Given the description of an element on the screen output the (x, y) to click on. 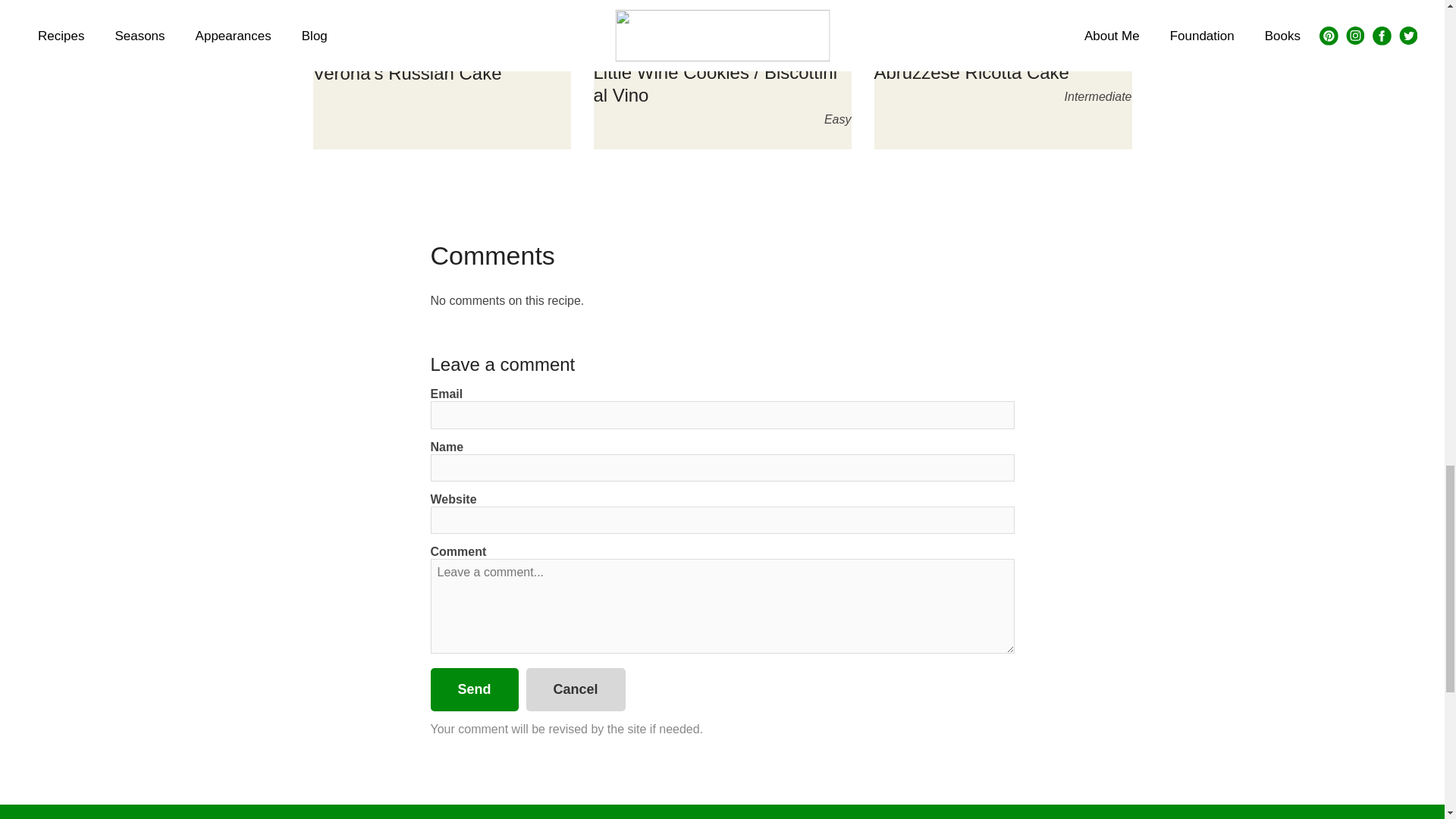
Abruzzese Ricotta Cake (970, 72)
Cancel (575, 689)
Send (474, 689)
